Given the description of an element on the screen output the (x, y) to click on. 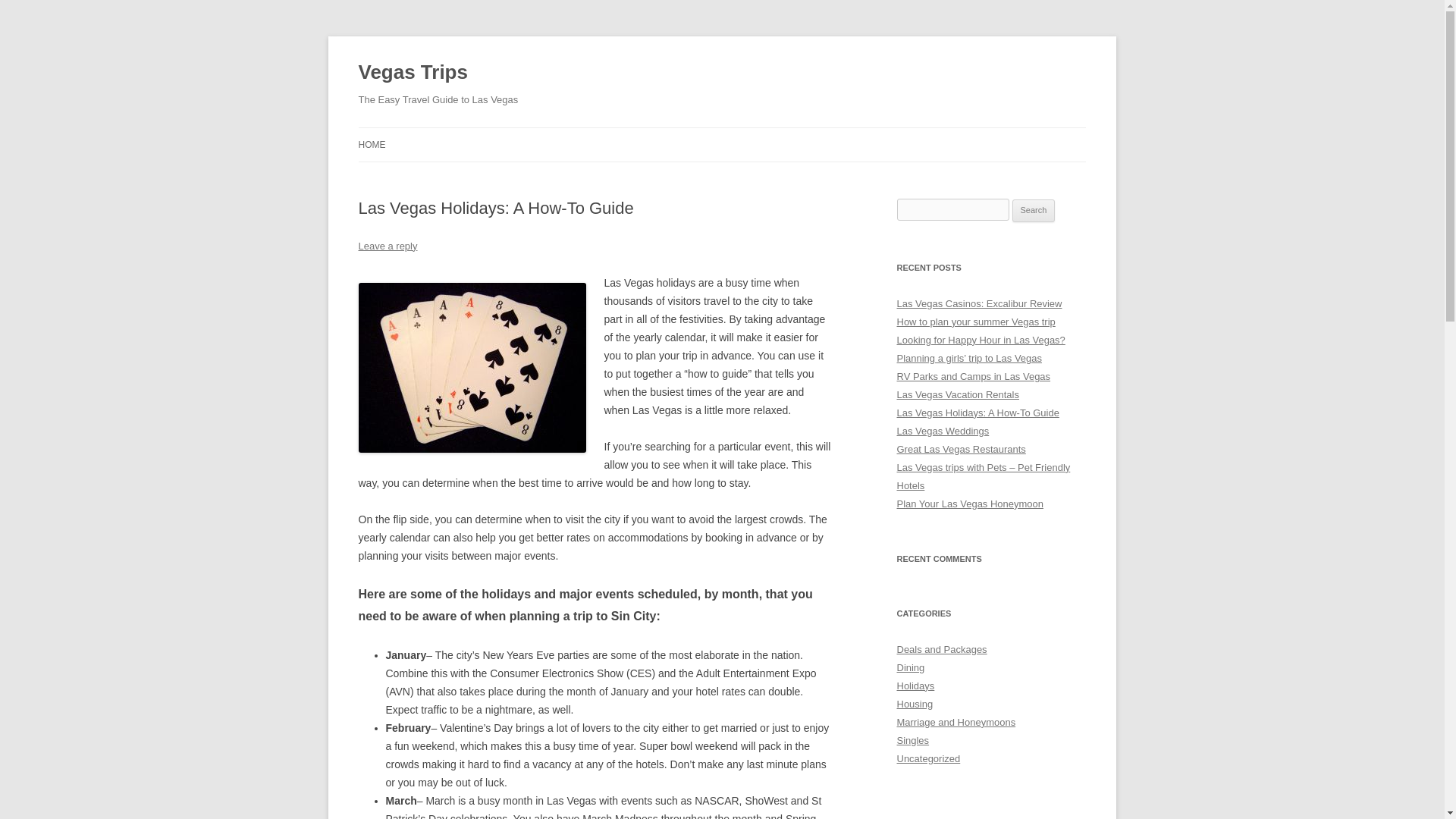
Las Vegas Weddings (942, 430)
Great Las Vegas Restaurants (960, 449)
Vegas Trips (412, 72)
Las Vegas Holidays: A How-To Guide (977, 412)
Uncategorized (927, 758)
Search (1033, 210)
Las Vegas Vacation Rentals (956, 394)
603936 poker (471, 367)
HOME (371, 144)
Search (1033, 210)
Dining (910, 667)
Looking for Happy Hour in Las Vegas? (980, 339)
Holidays (915, 685)
Deals and Packages (941, 649)
